Given the description of an element on the screen output the (x, y) to click on. 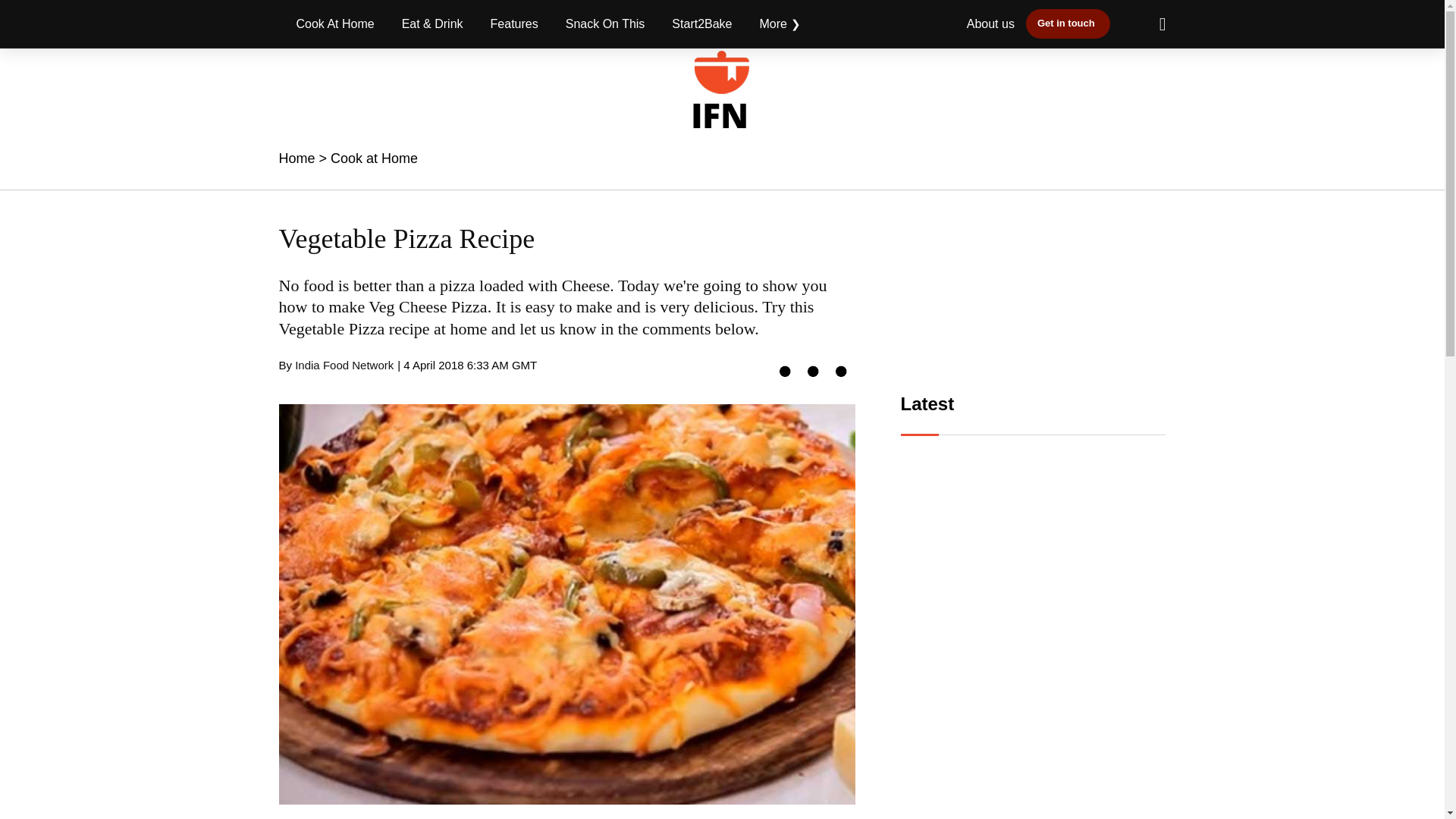
India Food Network (344, 364)
Start2Bake (701, 23)
Search (1155, 24)
Twitter Share (812, 370)
About us (990, 23)
FB Share (784, 370)
Get in touch (1067, 23)
Whatsapp Share (841, 370)
Cook At Home (335, 23)
